Given the description of an element on the screen output the (x, y) to click on. 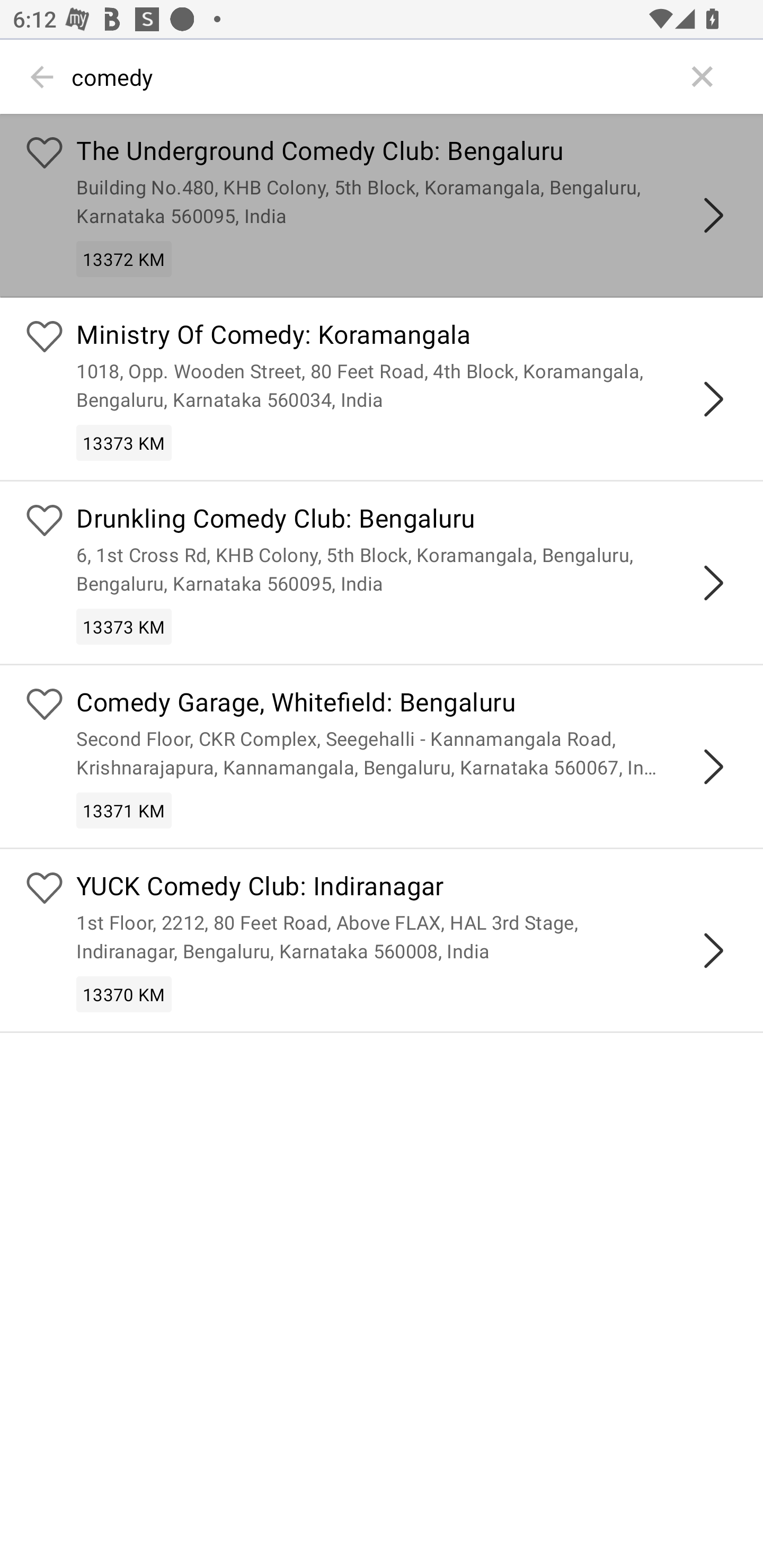
Back (42, 76)
comedy (373, 76)
Close (702, 76)
Ministry Of Comedy: Koramangala (406, 336)
 (713, 398)
13373 KM (123, 442)
Drunkling Comedy Club: Bengaluru (406, 520)
 (713, 582)
13373 KM (123, 626)
Comedy Garage, Whitefield: Bengaluru (406, 703)
 (713, 766)
13371 KM (123, 809)
YUCK Comedy Club: Indiranagar (406, 888)
 (713, 950)
13370 KM (123, 994)
